Given the description of an element on the screen output the (x, y) to click on. 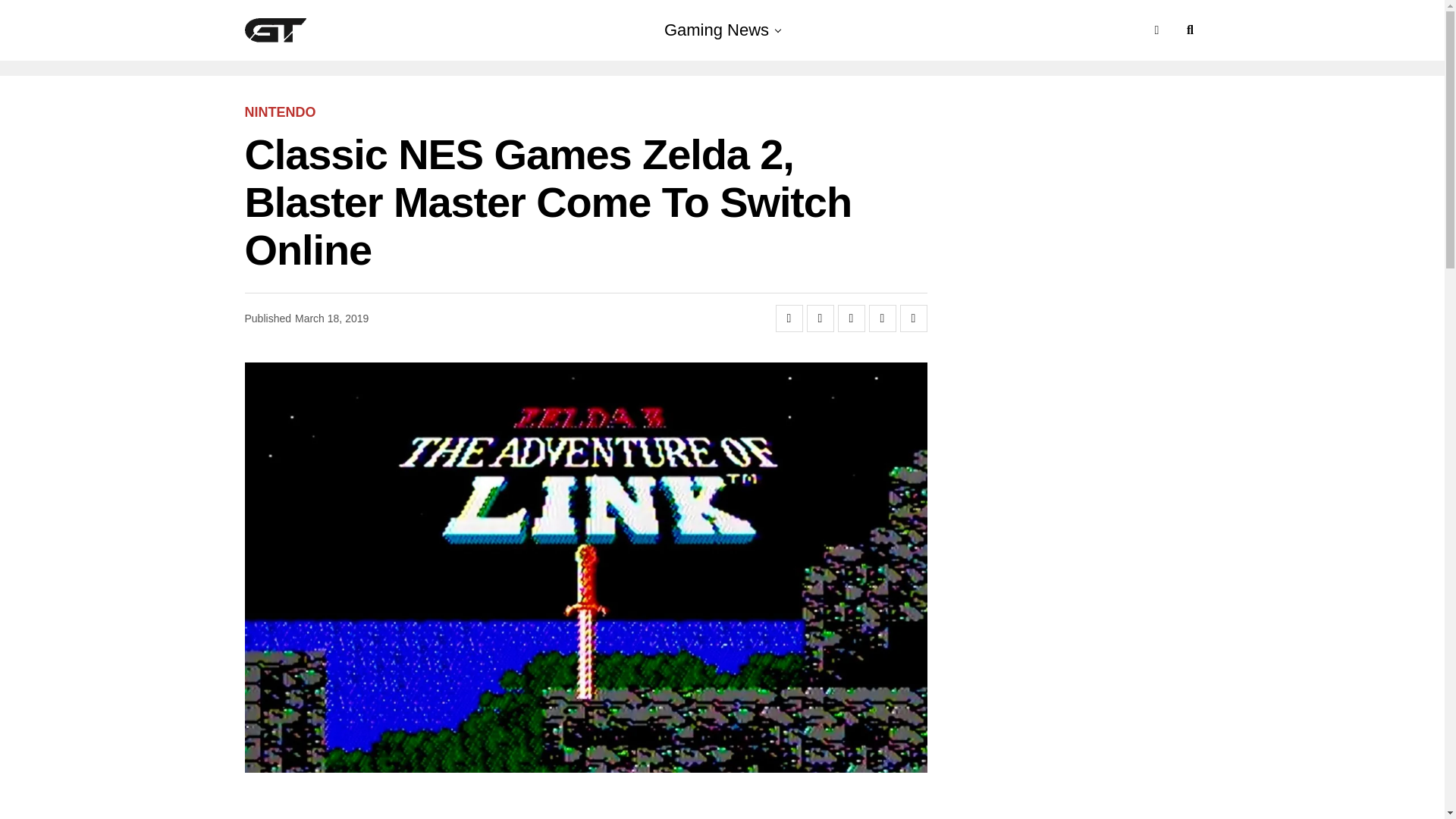
NINTENDO (279, 112)
Tweet This Post (820, 318)
Gaming News (716, 30)
Share on Facebook (788, 318)
